Given the description of an element on the screen output the (x, y) to click on. 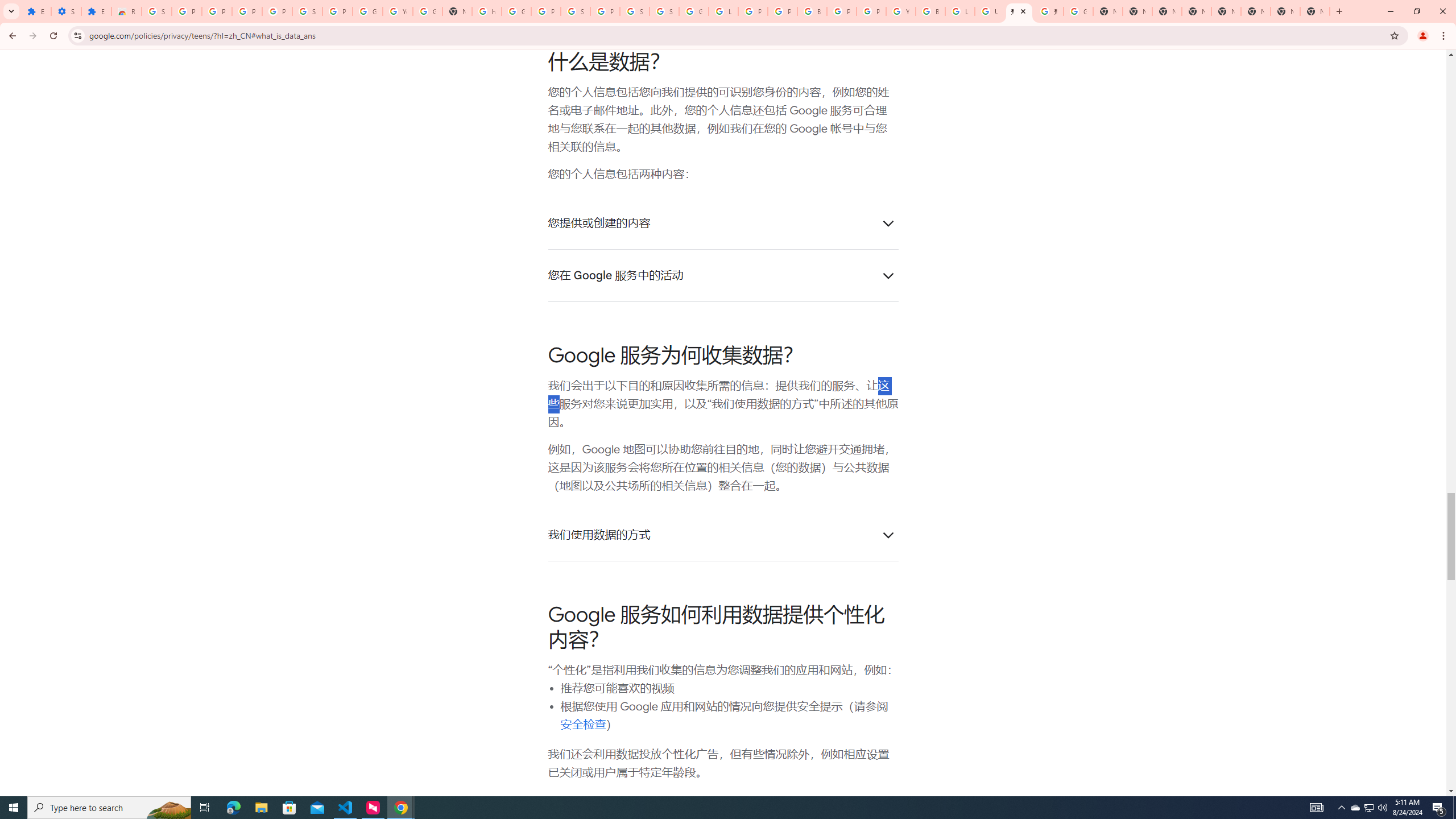
Settings (65, 11)
Sign in - Google Accounts (306, 11)
New Tab (1314, 11)
Privacy Help Center - Policies Help (782, 11)
Extensions (95, 11)
Sign in - Google Accounts (575, 11)
